Given the description of an element on the screen output the (x, y) to click on. 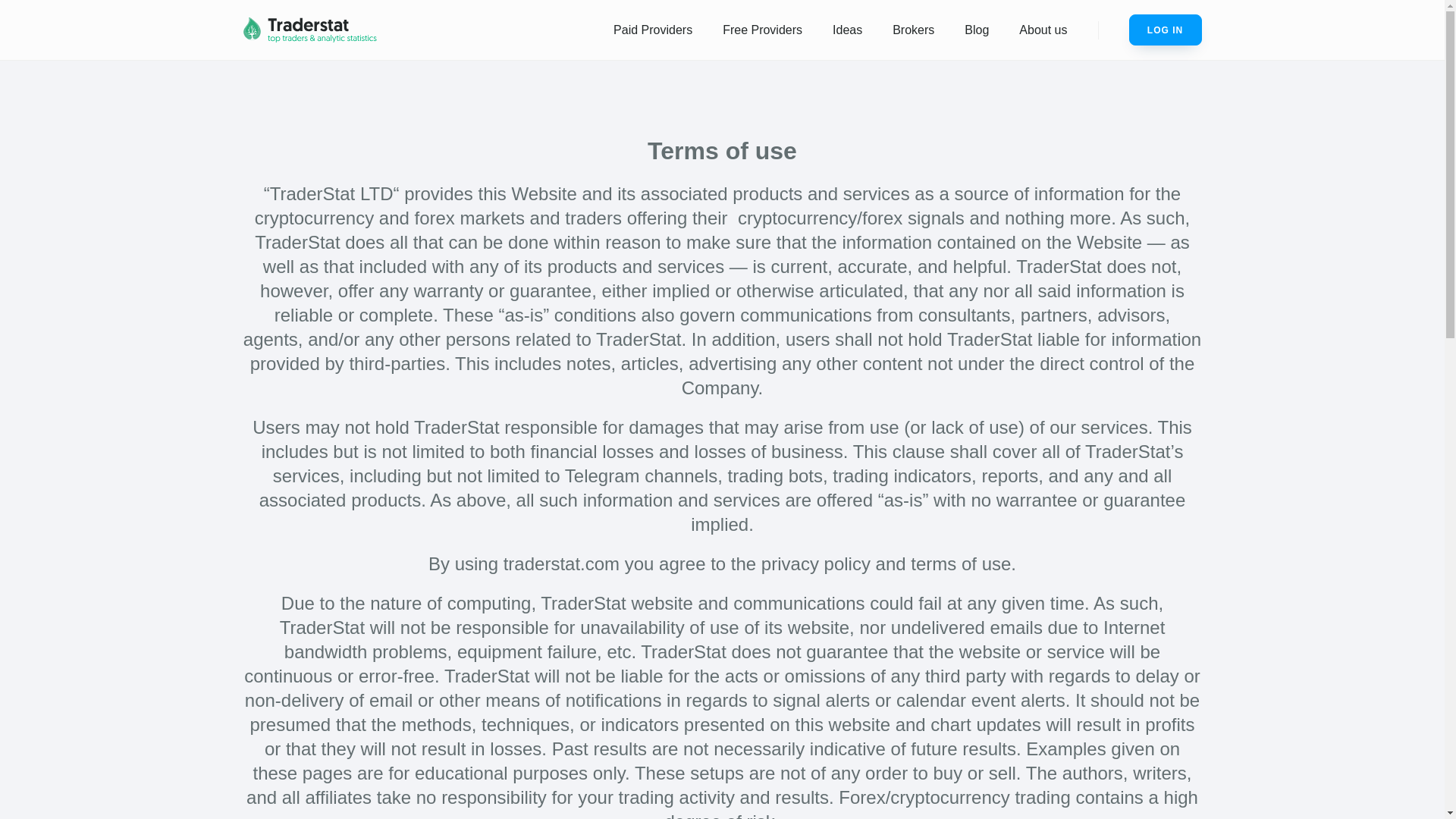
Ideas (846, 30)
Paid Providers (652, 30)
Free Providers (761, 30)
Blog (976, 30)
Brokers (913, 30)
LOG IN (1164, 29)
About us (1042, 30)
